Given the description of an element on the screen output the (x, y) to click on. 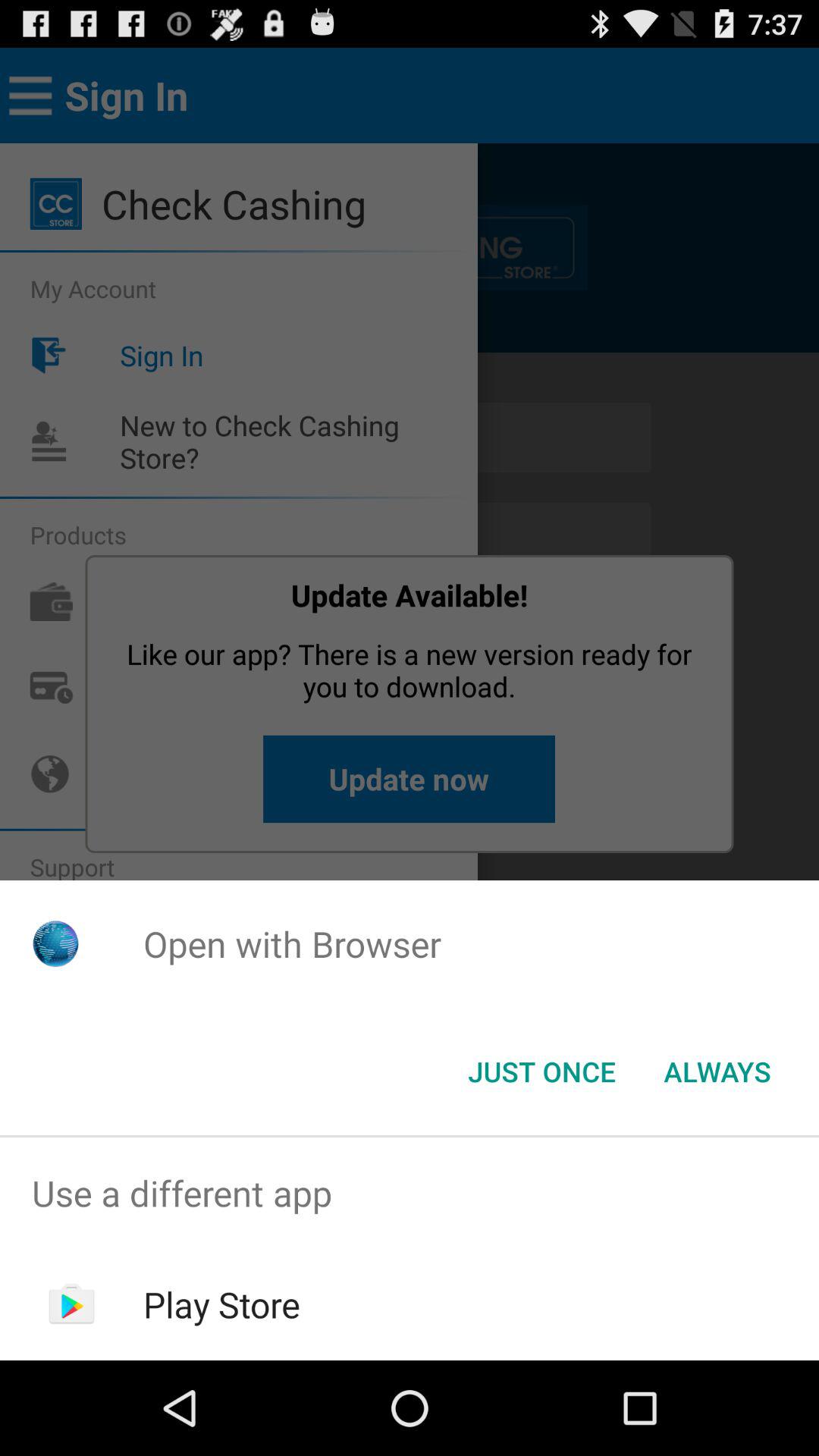
launch the item above play store item (409, 1192)
